Given the description of an element on the screen output the (x, y) to click on. 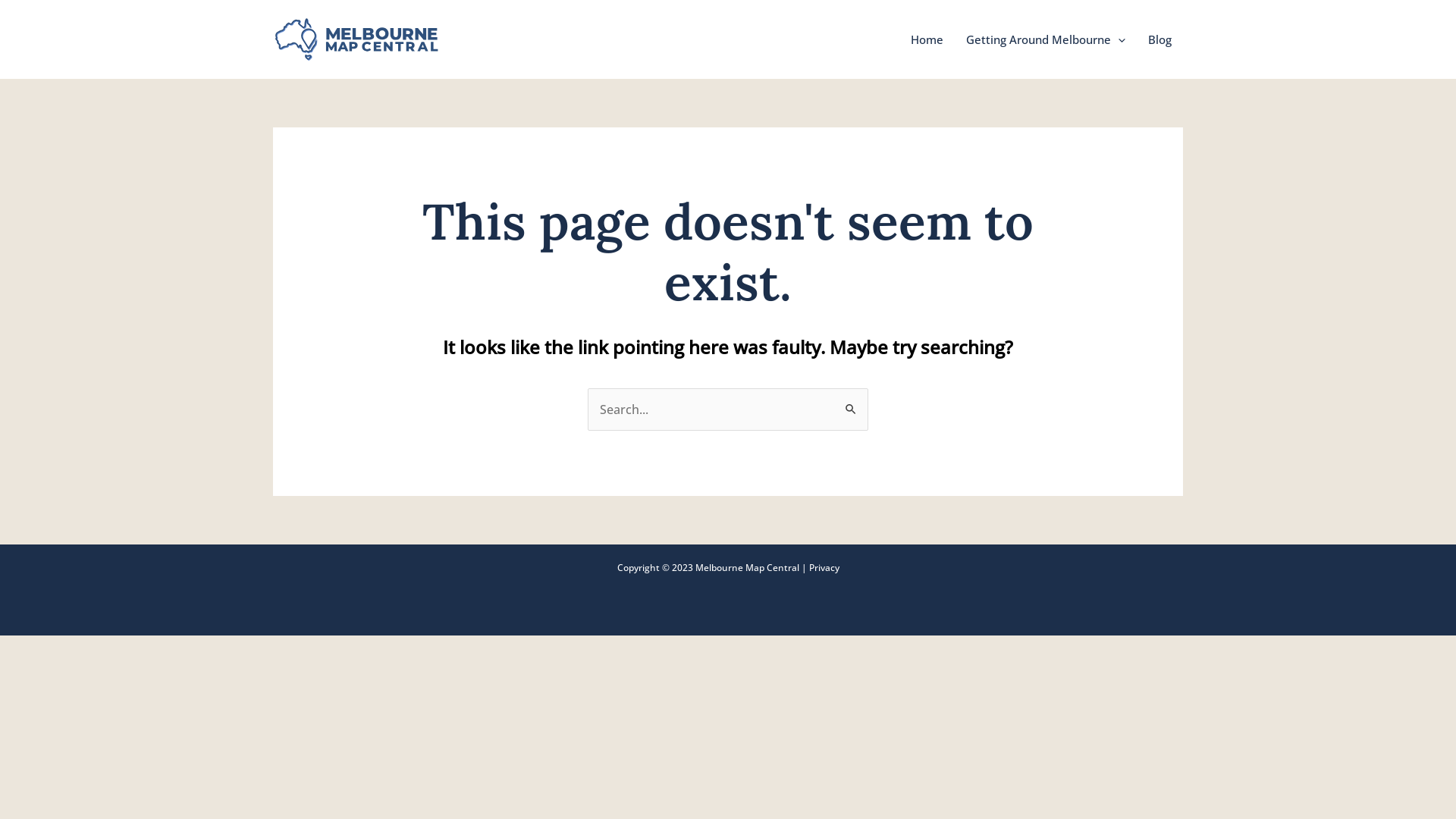
Home Element type: text (926, 39)
Privacy Element type: text (823, 567)
Search Element type: text (851, 403)
Blog Element type: text (1159, 39)
Getting Around Melbourne Element type: text (1045, 39)
